Given the description of an element on the screen output the (x, y) to click on. 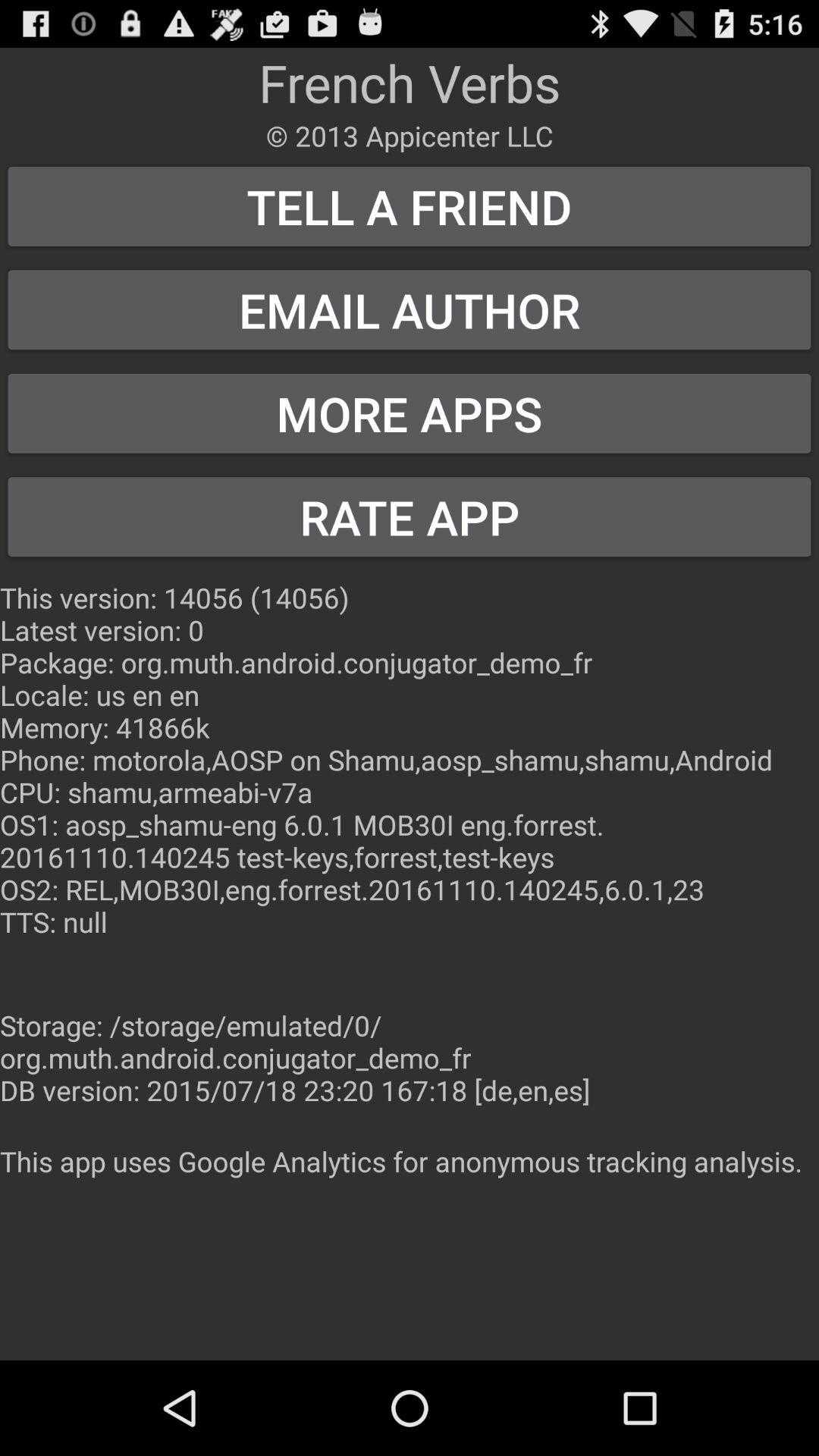
turn on button below the tell a friend icon (409, 309)
